Given the description of an element on the screen output the (x, y) to click on. 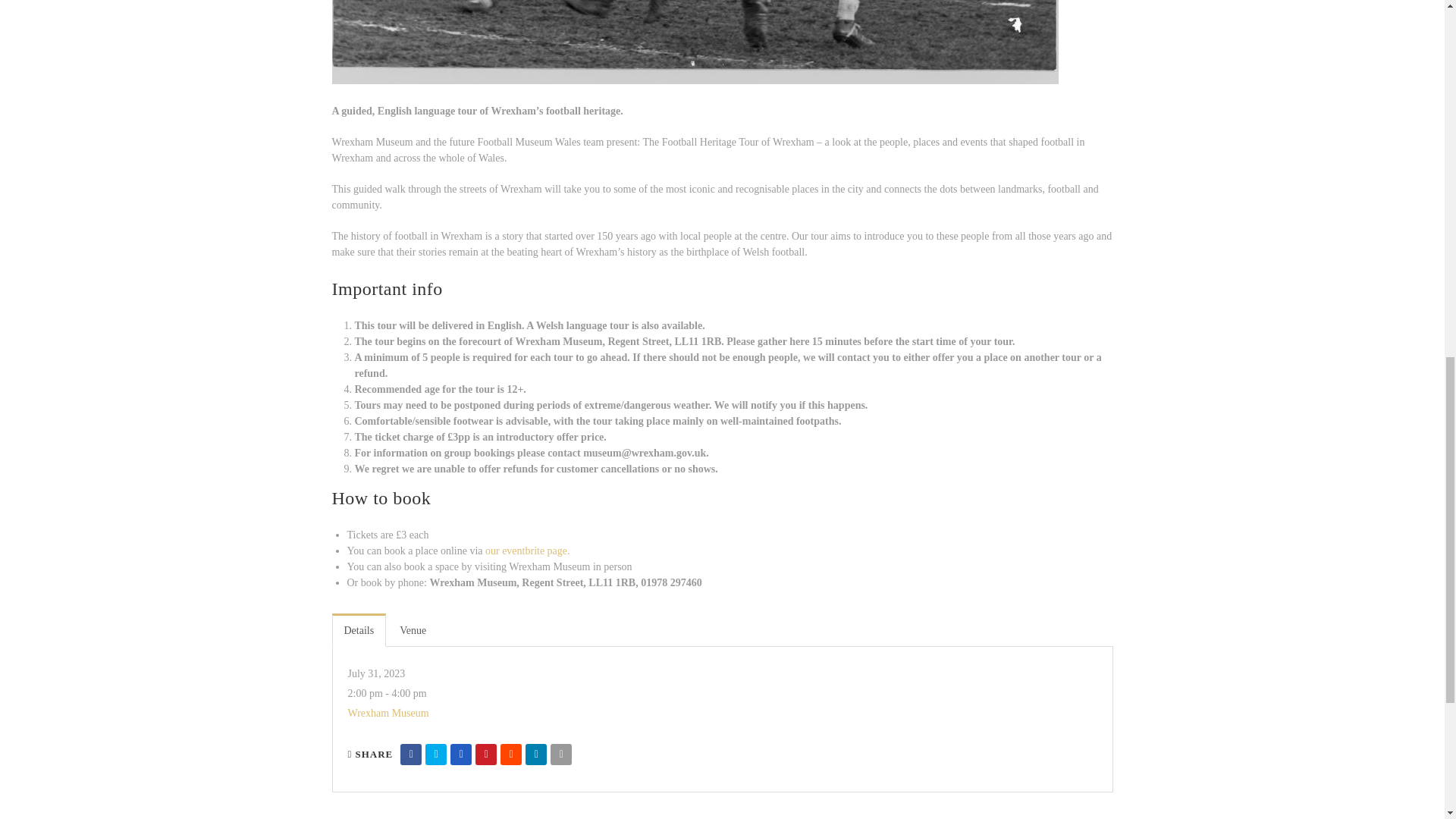
Share on Linkedin (536, 753)
Venue (412, 630)
Details (359, 630)
our eventbrite page. (527, 550)
Email (561, 753)
Pin it (486, 753)
Wrexham Museum (387, 713)
Submit to Reddit (510, 753)
Share on Facebook (411, 753)
Tweet (435, 753)
